Given the description of an element on the screen output the (x, y) to click on. 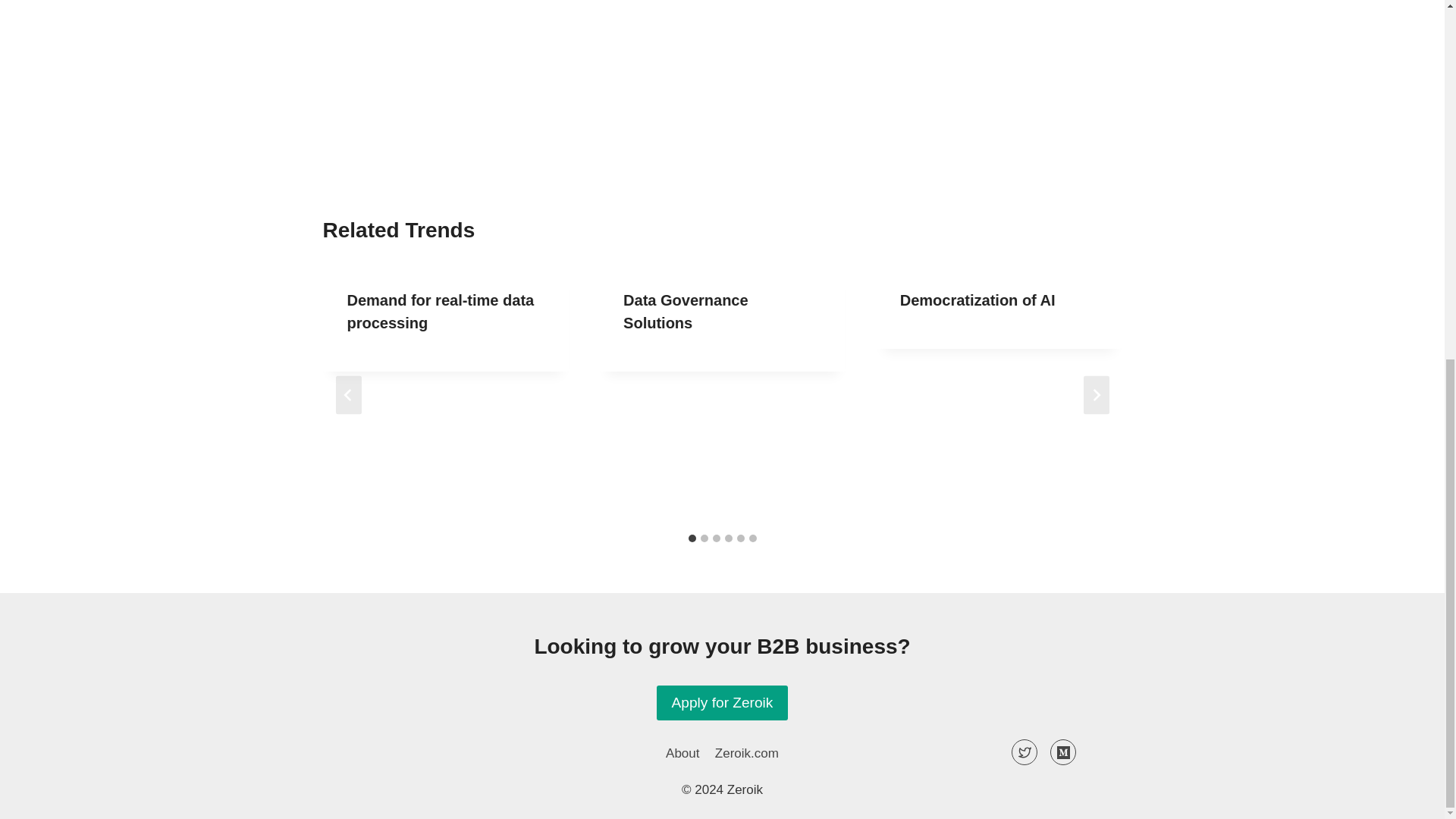
trends-widget-1 (722, 73)
